Given the description of an element on the screen output the (x, y) to click on. 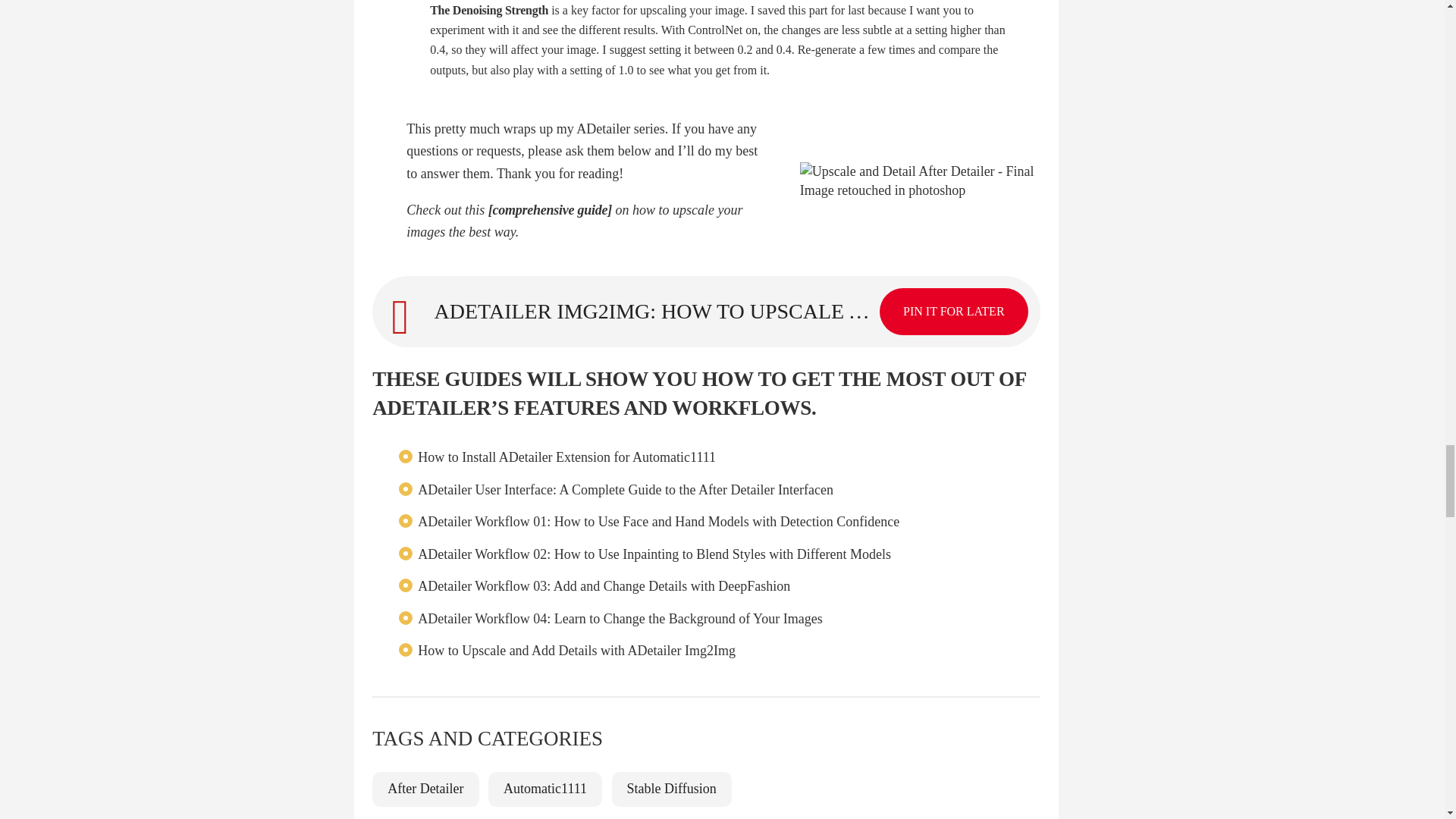
How to Install ADetailer Extension for Automatic1111 (566, 457)
PIN IT FOR LATER (953, 311)
How to Upscale and Add Details with ADetailer Img2Img (576, 650)
